Given the description of an element on the screen output the (x, y) to click on. 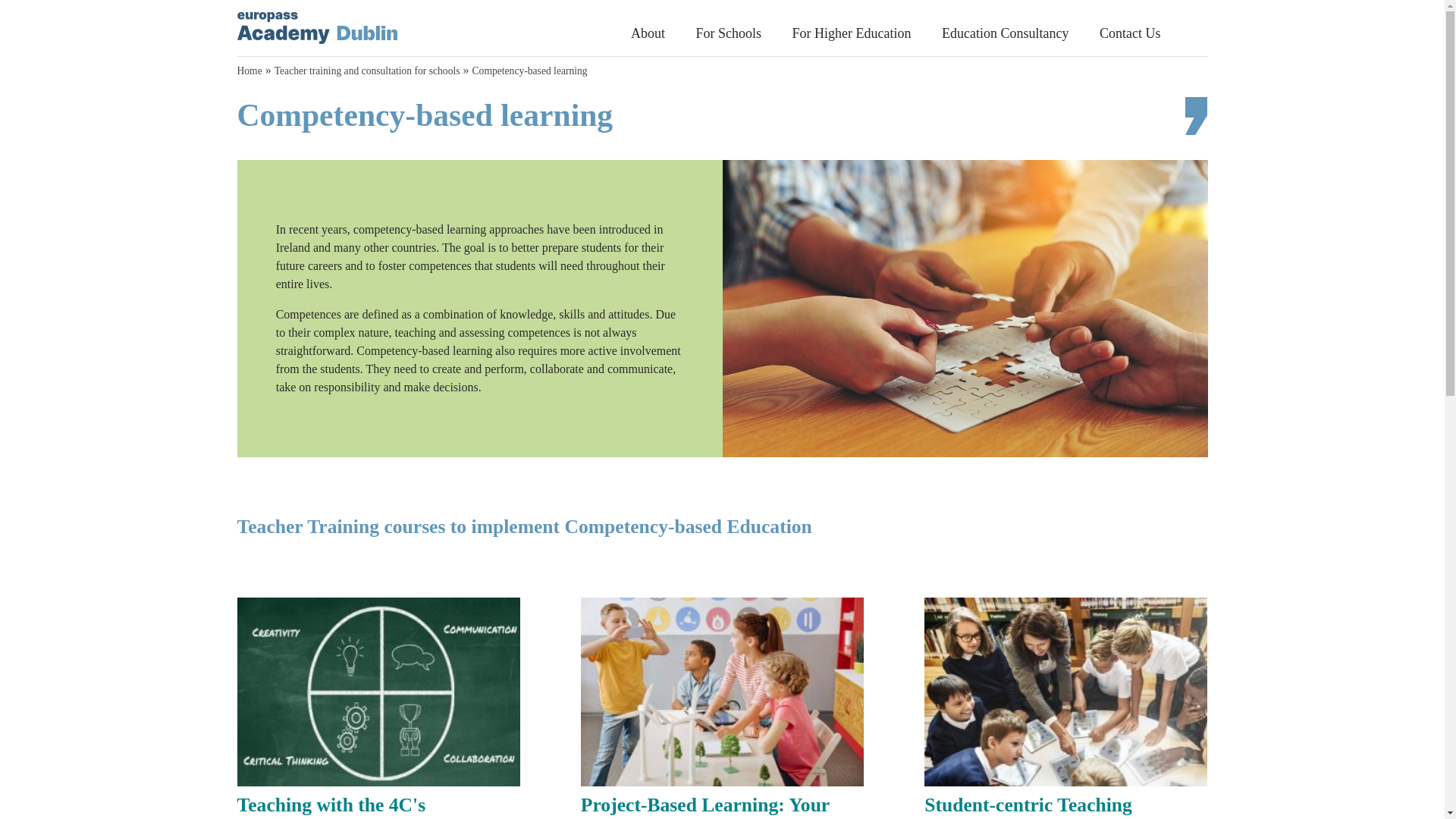
For Schools (728, 34)
Teacher training and consultation for schools (367, 71)
For Higher Education (851, 34)
Education Consultancy (1005, 34)
Contact Us (1129, 34)
Home (248, 71)
About (647, 34)
